Given the description of an element on the screen output the (x, y) to click on. 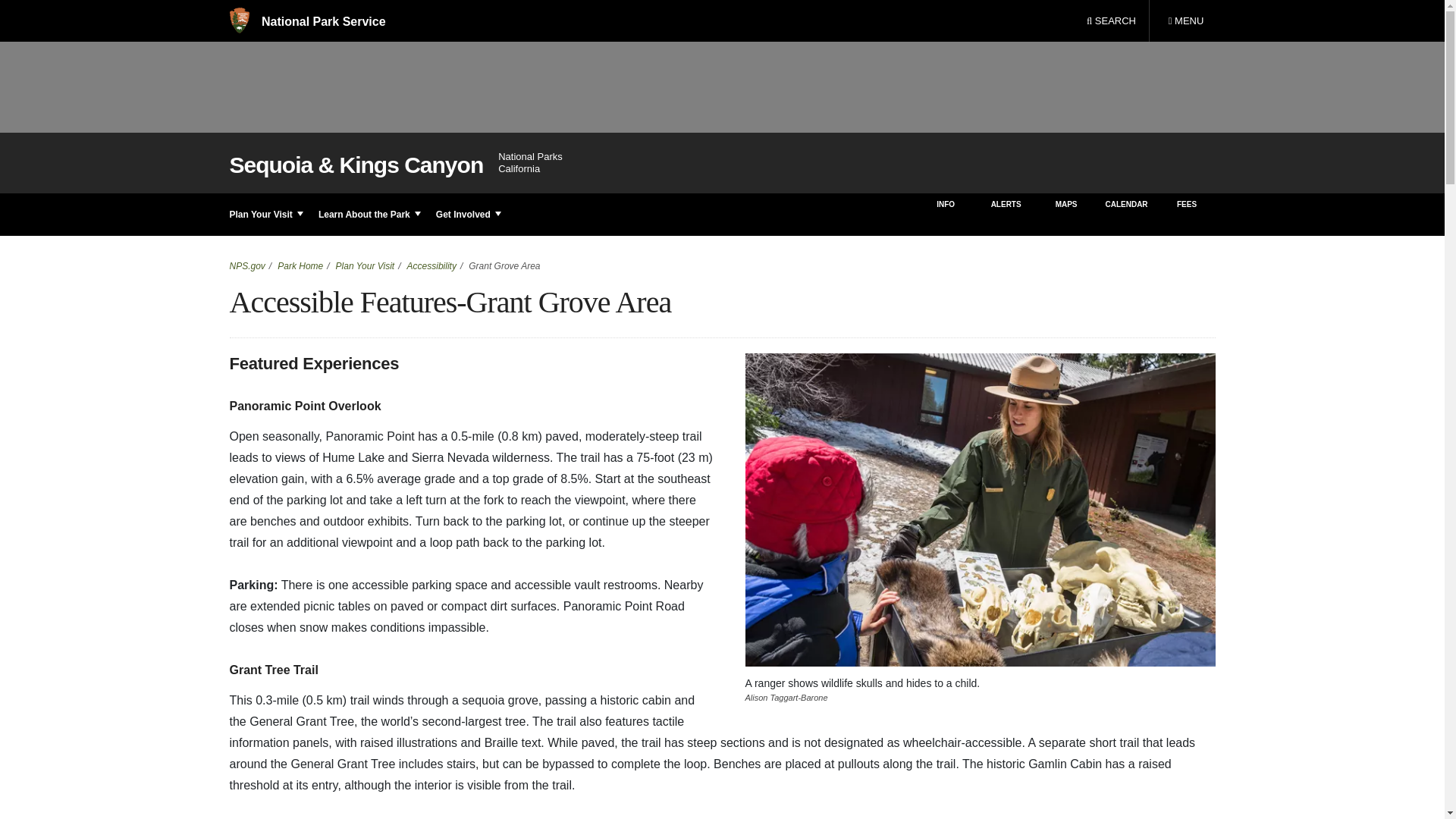
National Park Service (307, 20)
SEARCH (1111, 20)
